Given the description of an element on the screen output the (x, y) to click on. 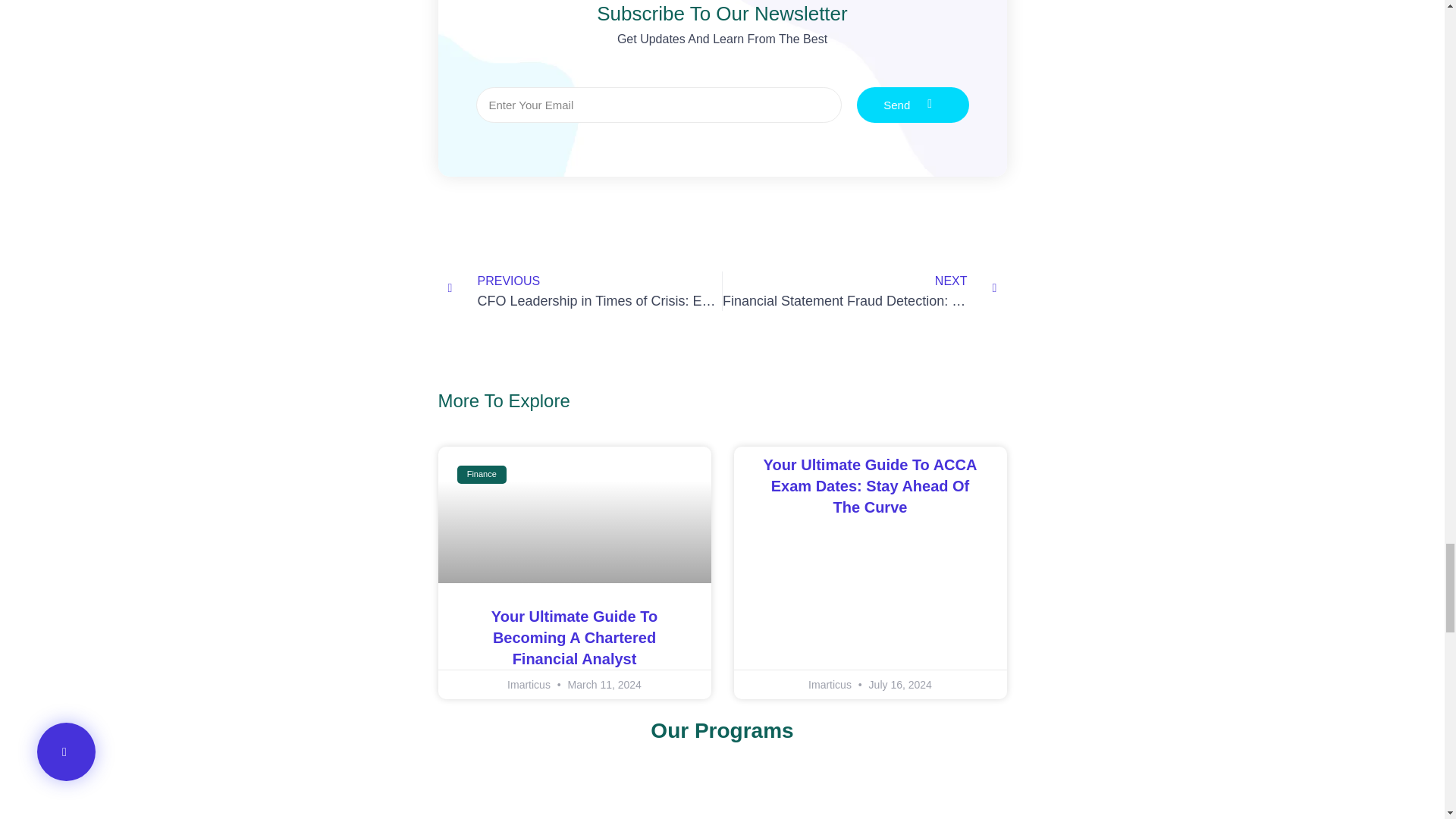
Send (913, 104)
